Given the description of an element on the screen output the (x, y) to click on. 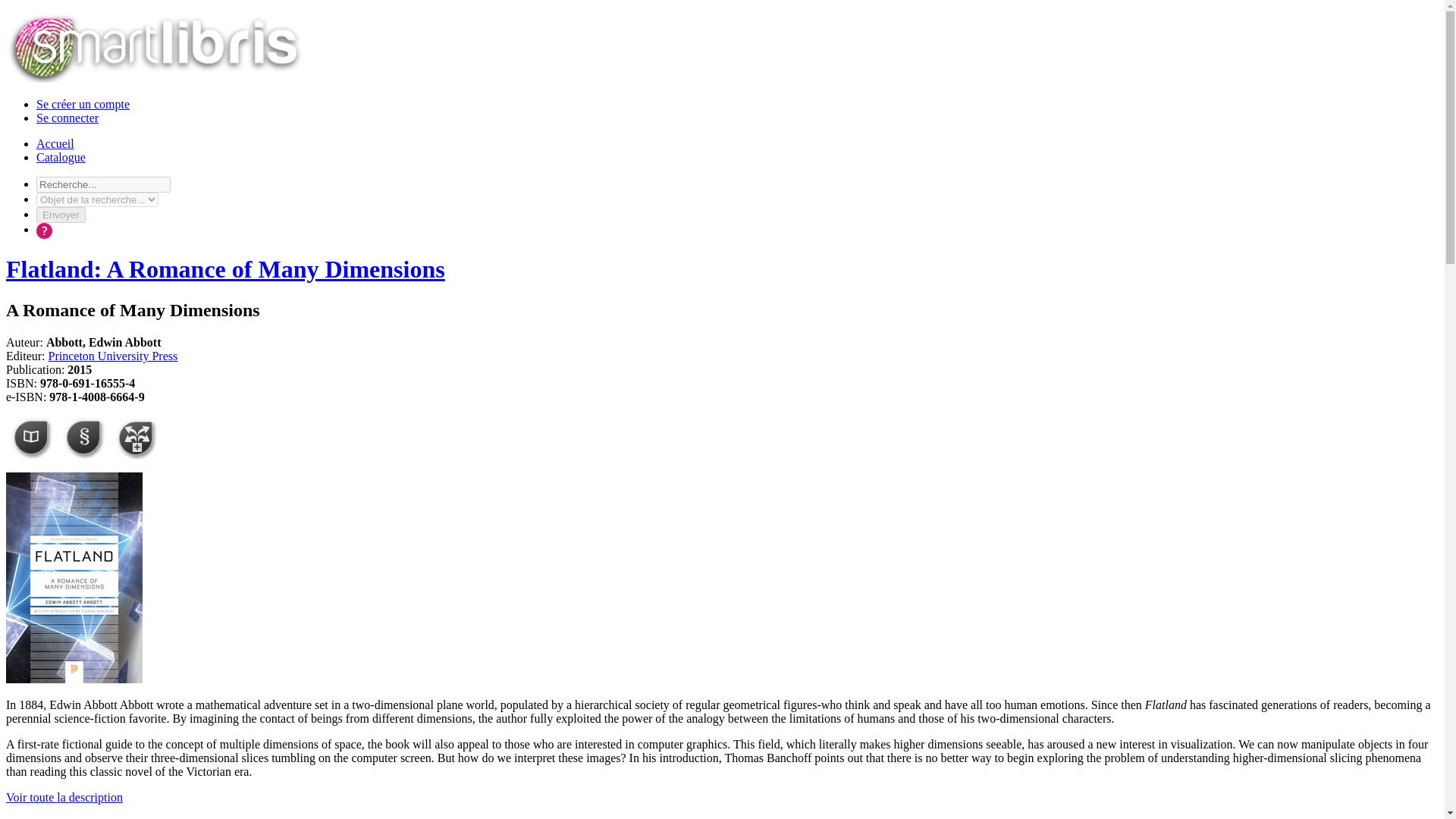
Envoyer (60, 214)
Envoyer (60, 214)
Accueil (55, 143)
Princeton University Press (112, 355)
Catalogue (60, 156)
Flatland: A Romance of Many Dimensions (225, 268)
Se connecter (67, 117)
Voir toute la description (63, 797)
